Given the description of an element on the screen output the (x, y) to click on. 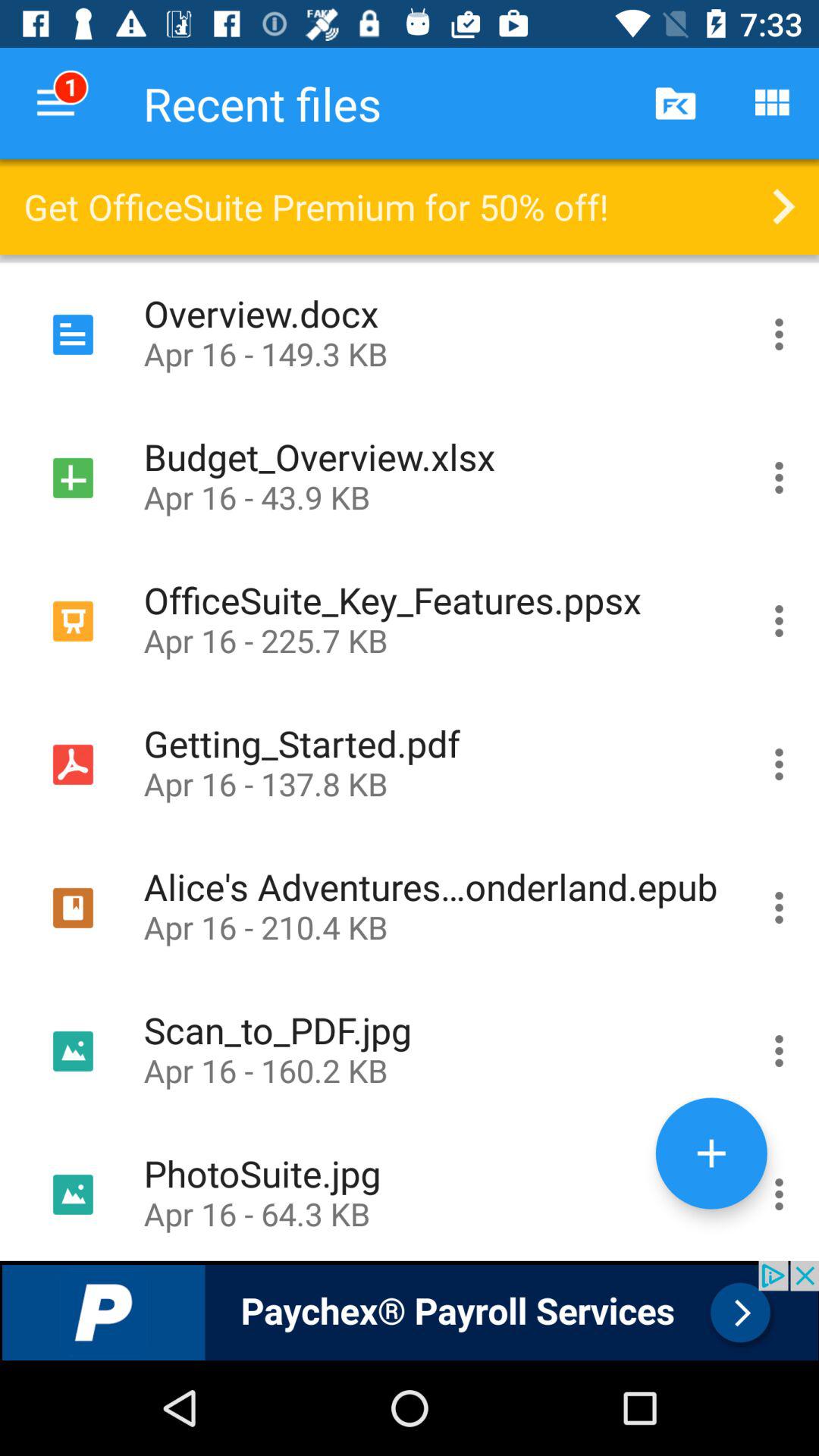
expand officesuit_key_features.ppsx options (779, 620)
